Given the description of an element on the screen output the (x, y) to click on. 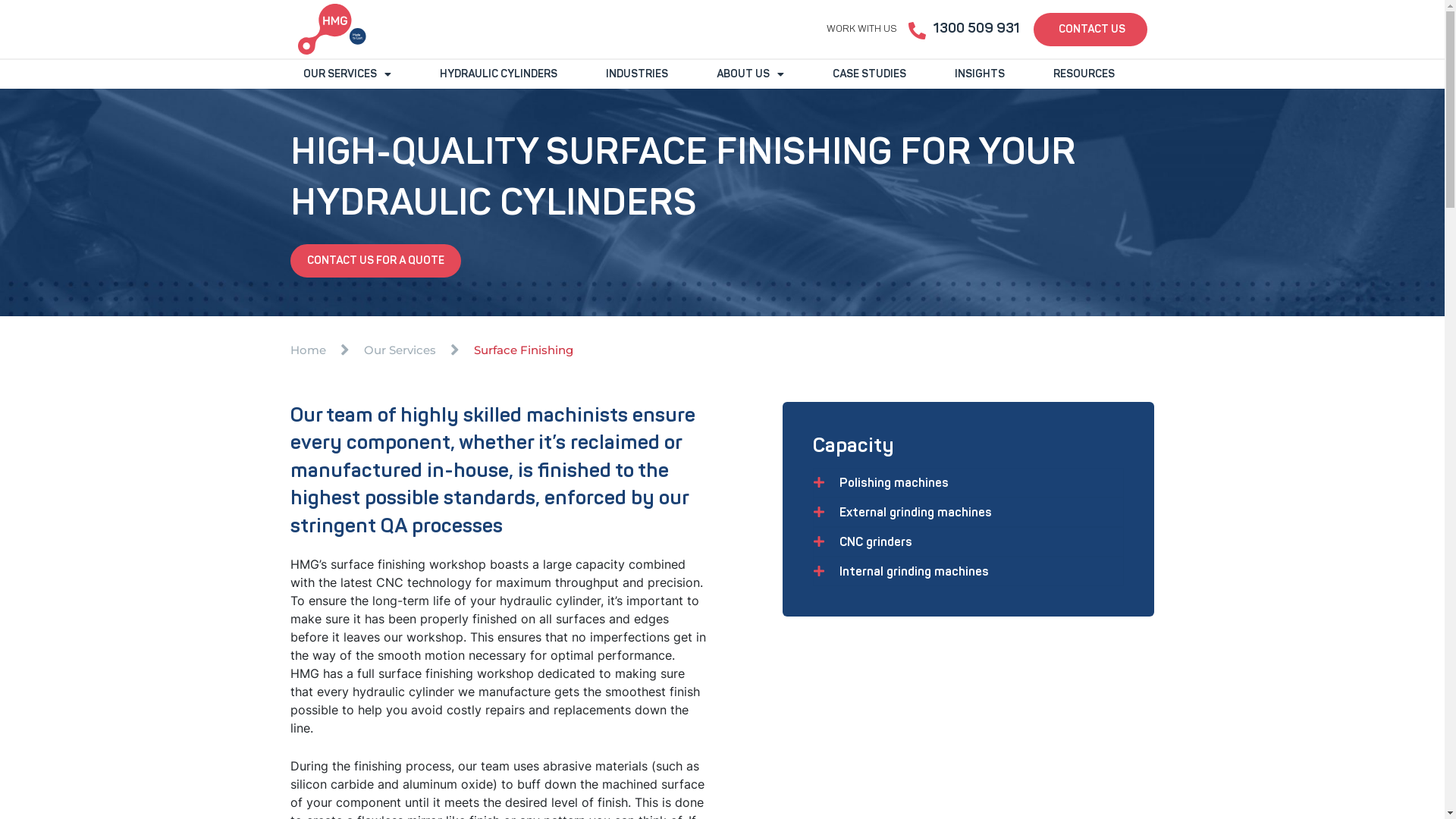
CONTACT US Element type: text (1089, 28)
INSIGHTS Element type: text (979, 73)
RESOURCES Element type: text (1083, 73)
OUR SERVICES Element type: text (346, 73)
Home Element type: text (307, 349)
Our Services Element type: text (400, 349)
1300 509 931 Element type: text (975, 28)
WORK WITH US Element type: text (861, 28)
HYDRAULIC CYLINDERS Element type: text (497, 73)
ABOUT US Element type: text (750, 73)
INDUSTRIES Element type: text (636, 73)
CASE STUDIES Element type: text (868, 73)
CONTACT US FOR A QUOTE Element type: text (374, 260)
